Given the description of an element on the screen output the (x, y) to click on. 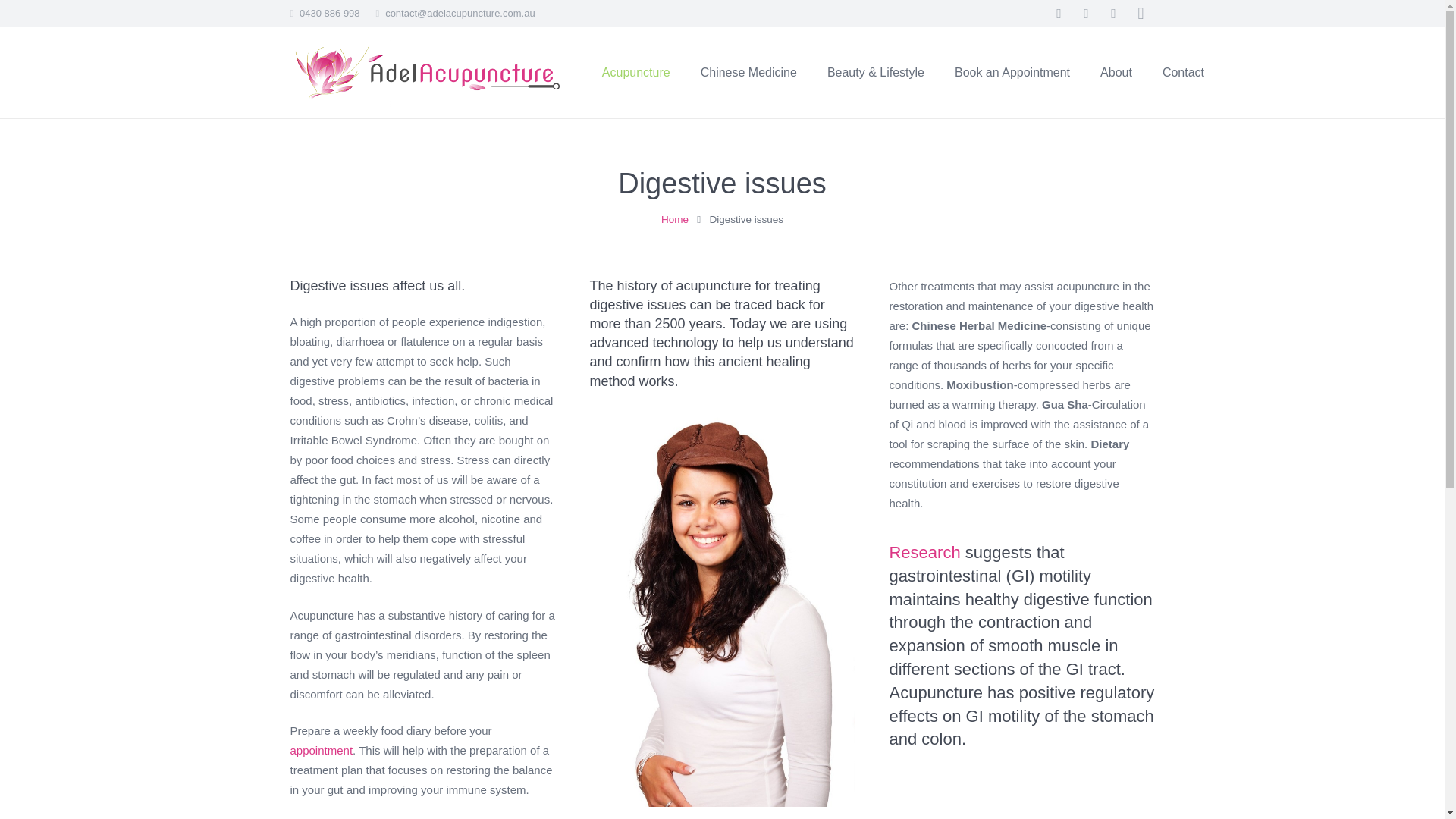
appointment (320, 749)
Chinese Medicine (748, 72)
Research (923, 551)
Book an Appointment (1011, 72)
Home (674, 219)
Acupuncture (635, 72)
